Given the description of an element on the screen output the (x, y) to click on. 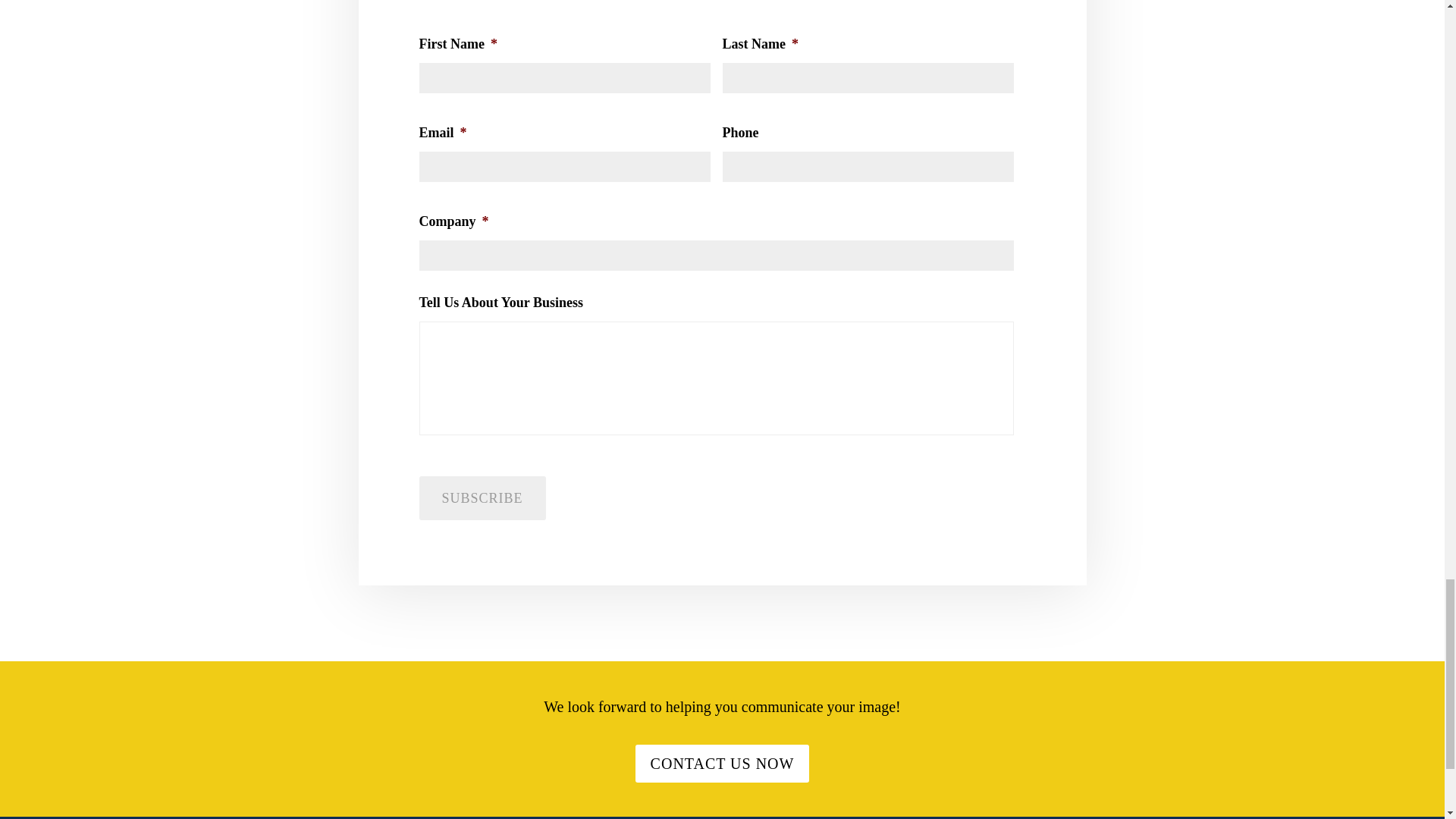
CONTACT US NOW (721, 763)
Subscribe (481, 497)
Subscribe (481, 497)
